Given the description of an element on the screen output the (x, y) to click on. 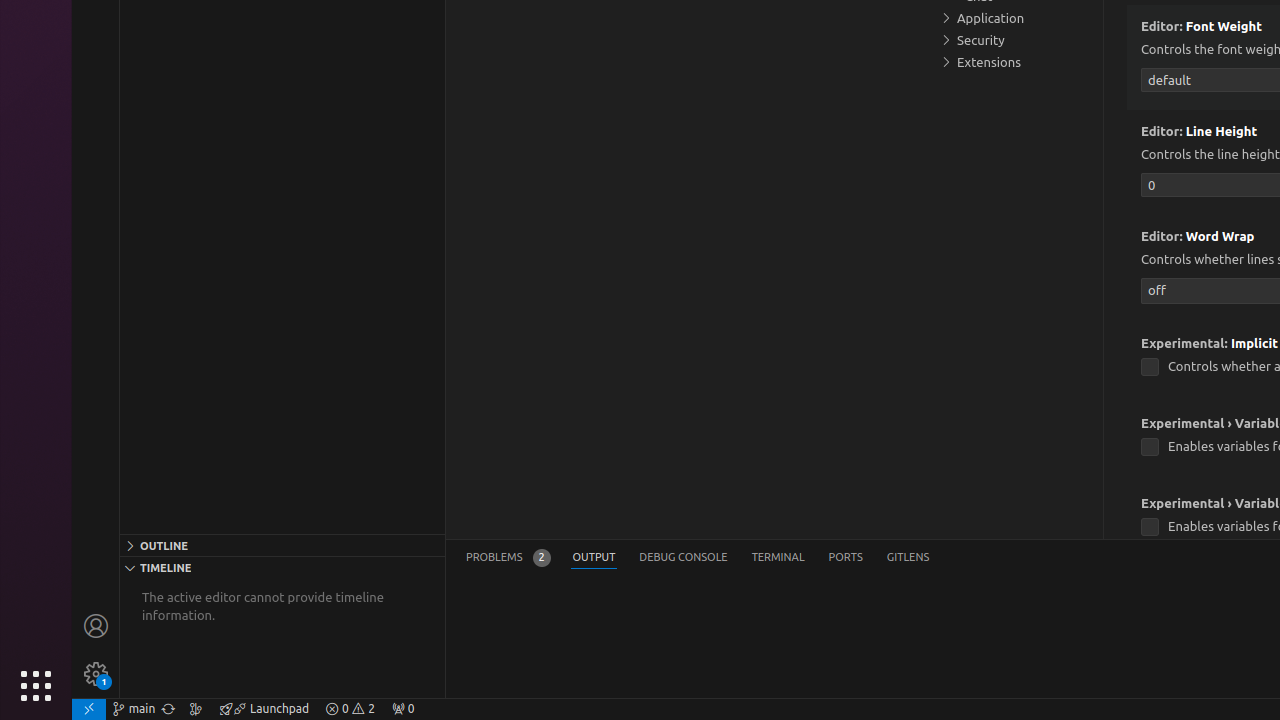
GitLens Element type: page-tab (908, 557)
OSWorld (Git) - main, Checkout Branch/Tag... Element type: push-button (134, 709)
Warnings: 2 Element type: push-button (350, 709)
More Actions... (Shift+F9) Element type: push-button (1116, 501)
Output (Ctrl+K Ctrl+H) Element type: page-tab (594, 557)
